Given the description of an element on the screen output the (x, y) to click on. 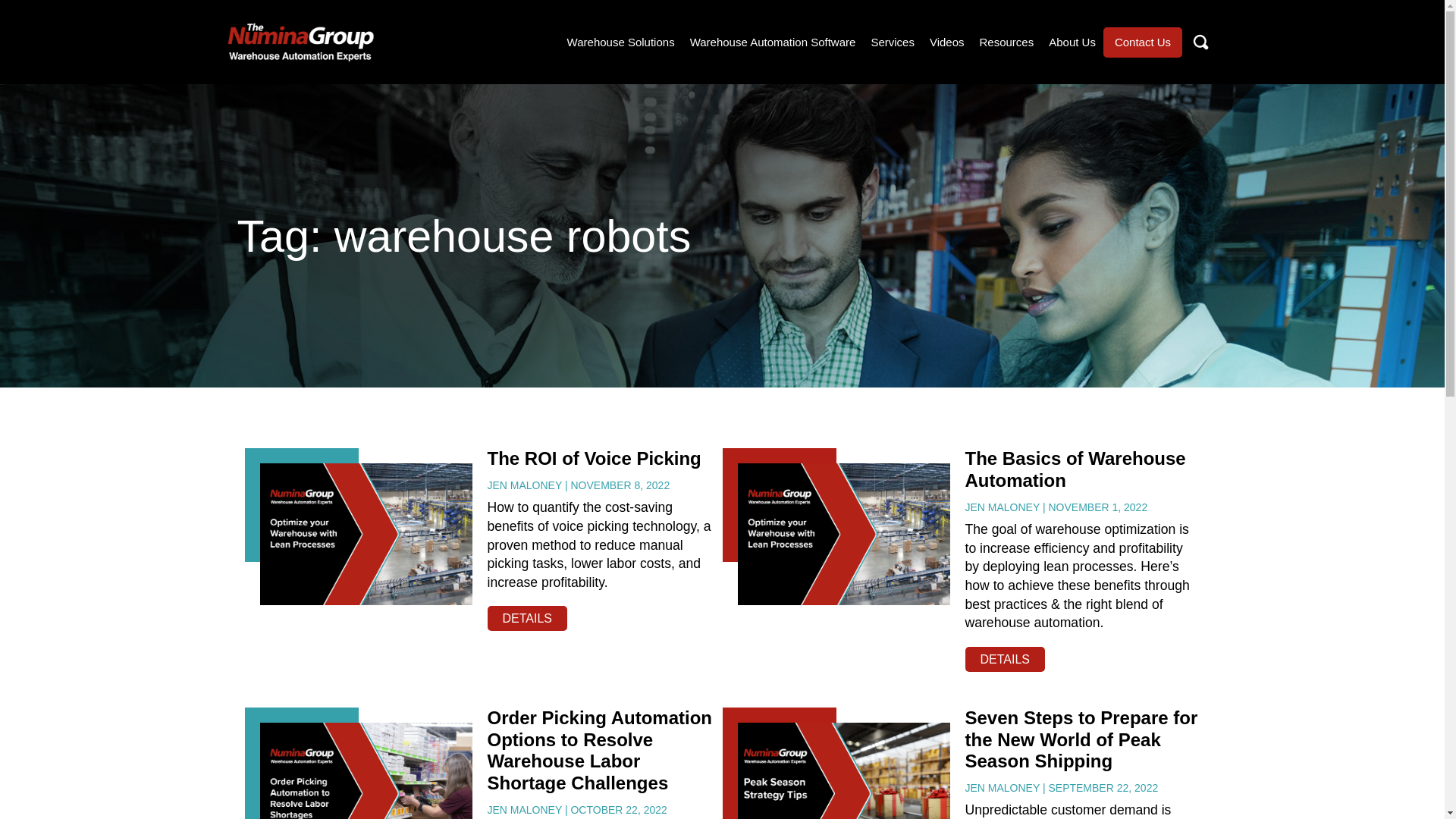
Resources (1006, 42)
Warehouse Solutions (621, 42)
magnifying-glass (1200, 42)
Warehouse Automation Software (773, 42)
Videos (946, 42)
Services (892, 42)
